Given the description of an element on the screen output the (x, y) to click on. 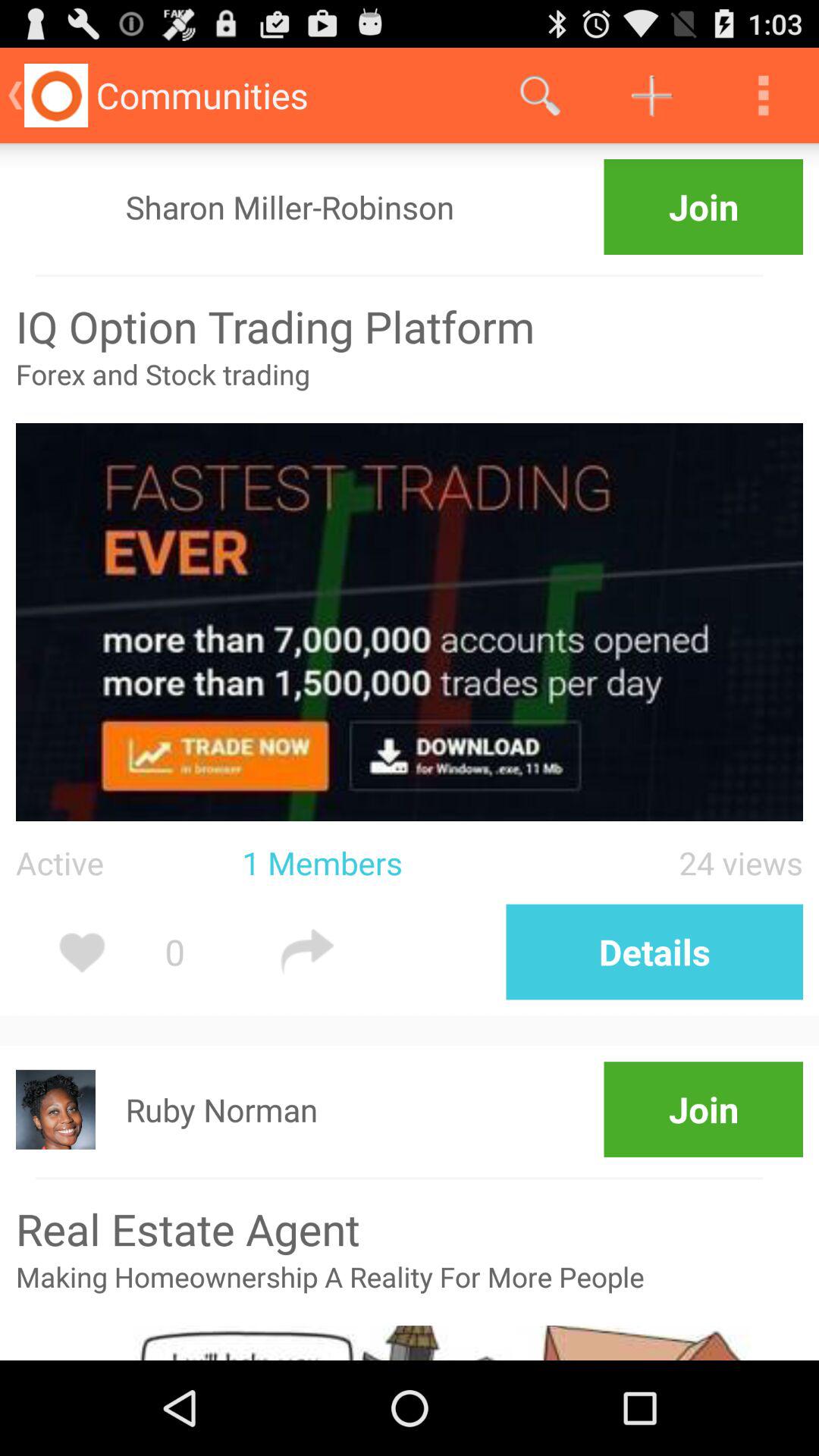
turn on icon above the details icon (671, 862)
